Given the description of an element on the screen output the (x, y) to click on. 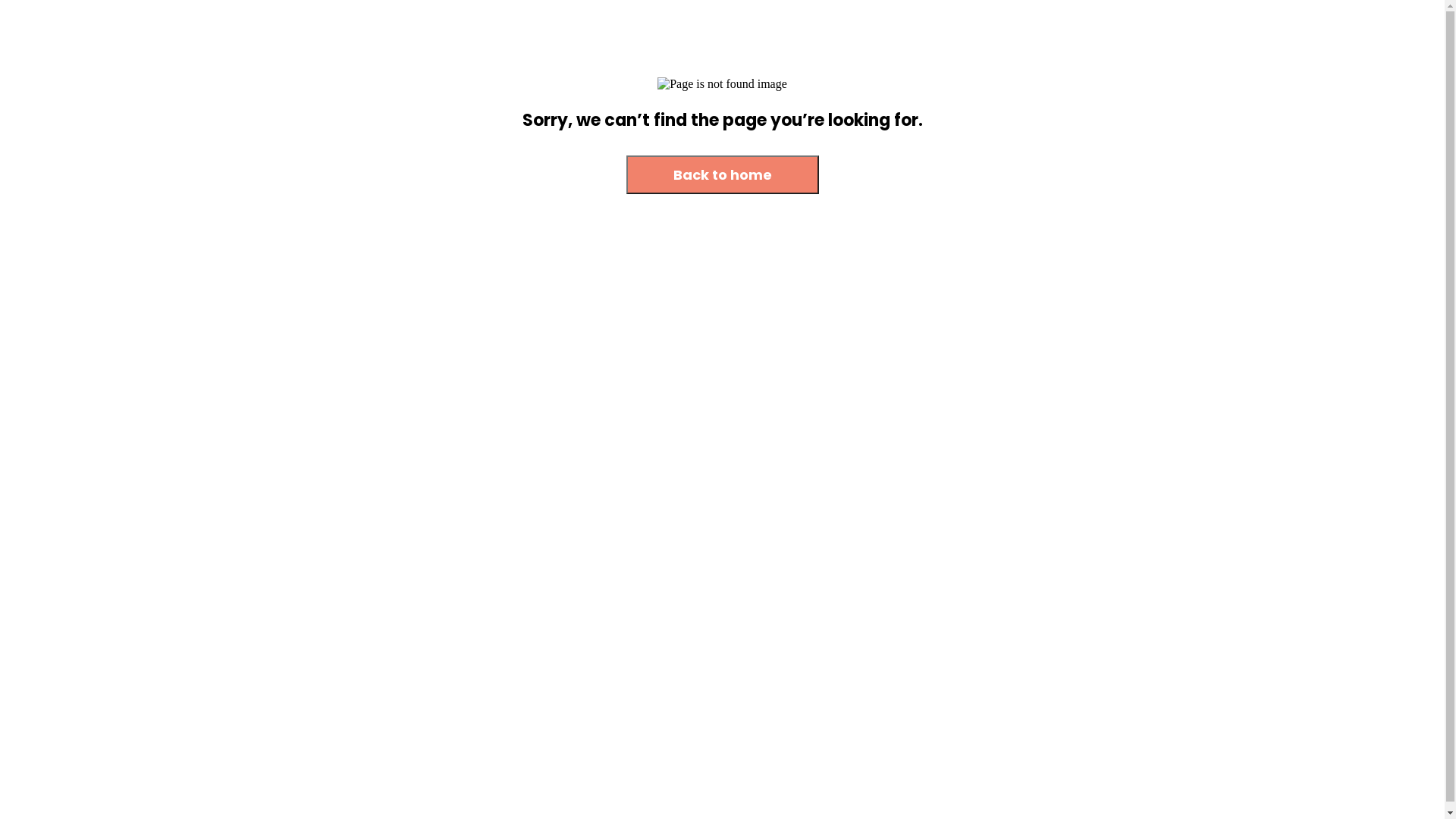
Back to home Element type: text (722, 174)
Back to home Element type: text (722, 175)
